Given the description of an element on the screen output the (x, y) to click on. 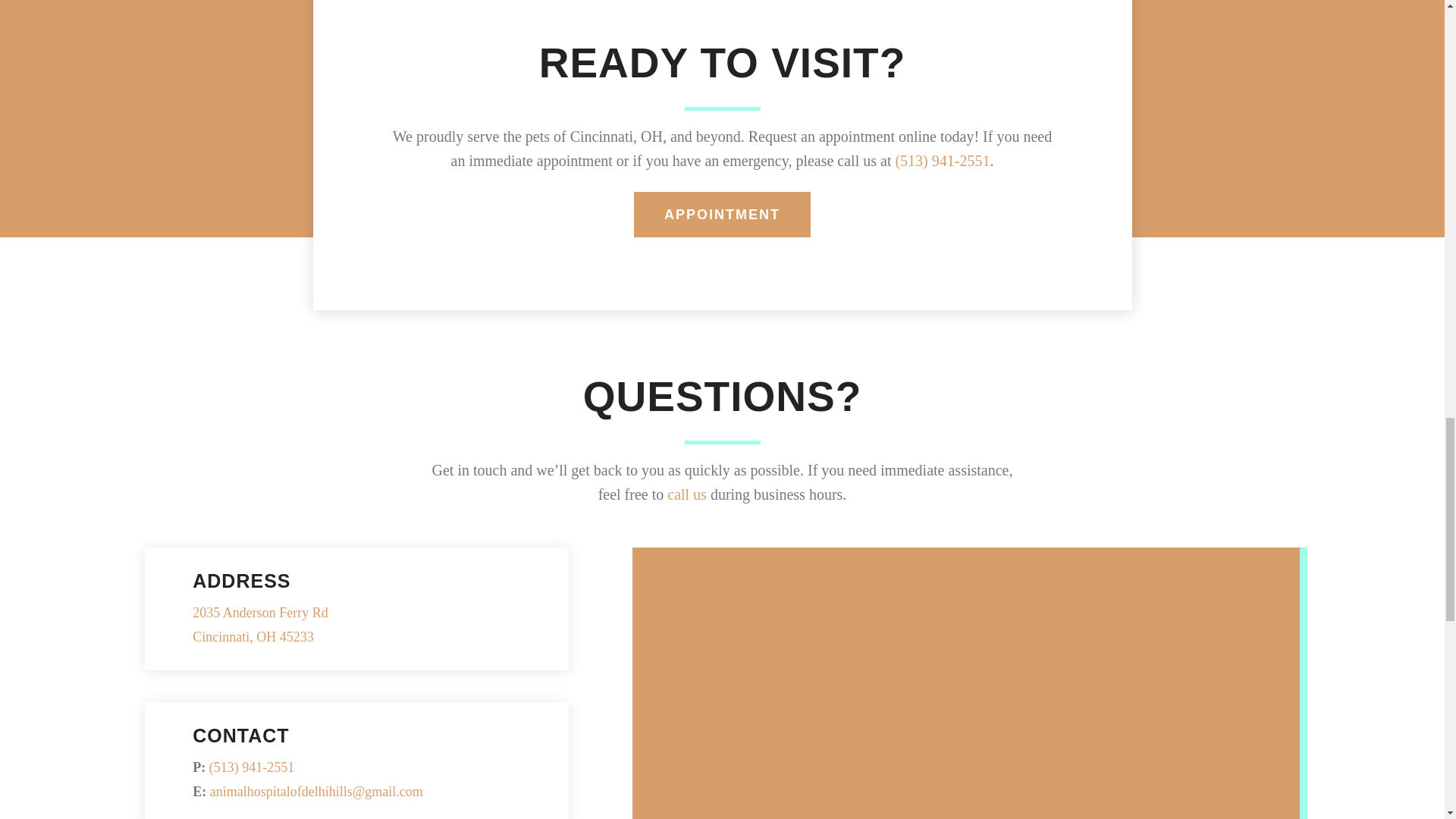
APPOINTMENT (260, 624)
call us (721, 214)
